Given the description of an element on the screen output the (x, y) to click on. 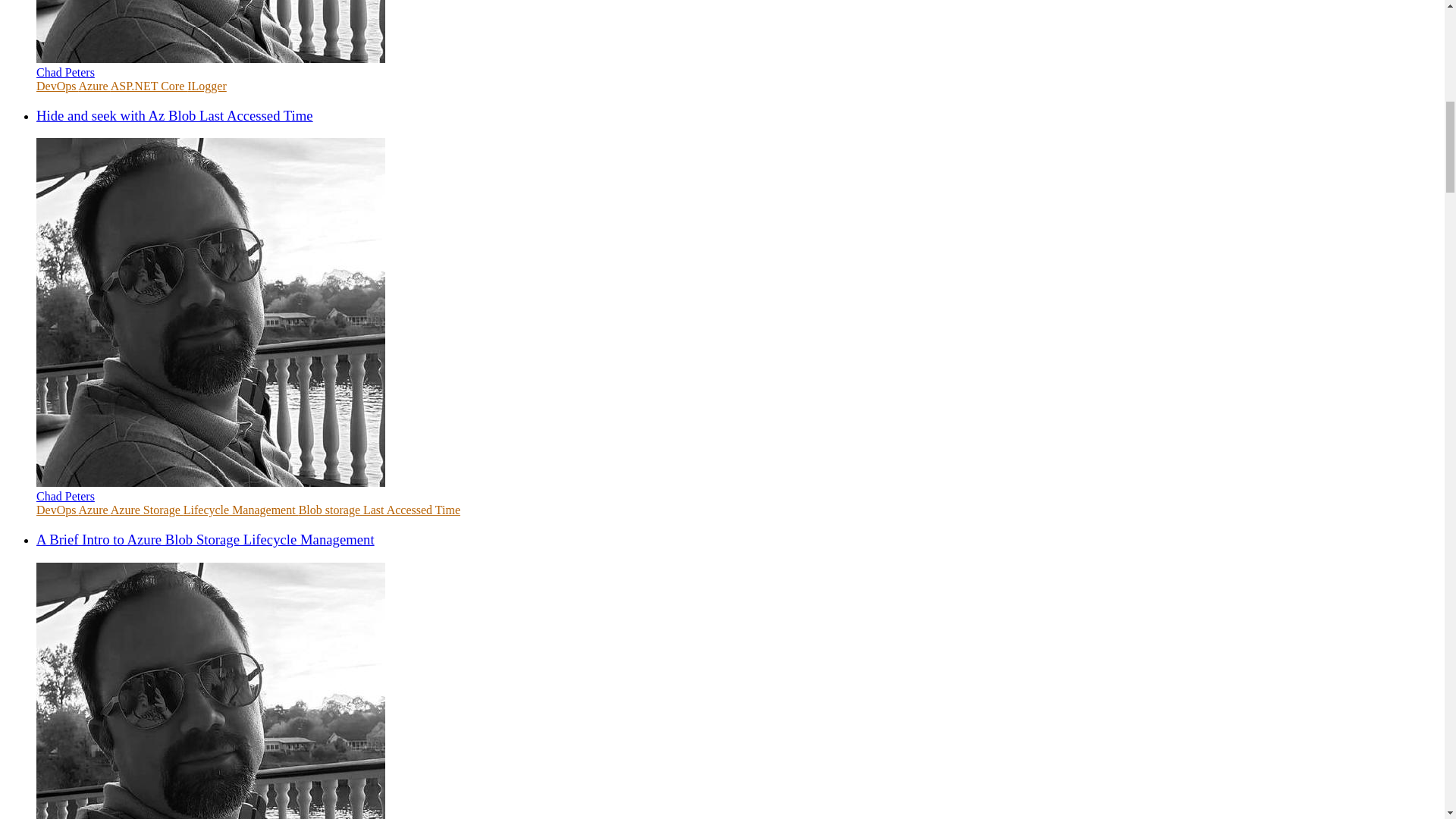
Azure Storage (146, 509)
A Brief Intro to Azure Blob Storage Lifecycle Management (205, 539)
Hide and seek with Az Blob Last Accessed Time (174, 115)
Azure (94, 85)
ASP.NET Core (148, 85)
Hide and seek with Az Blob Last Accessed Time (174, 115)
DevOps (57, 509)
Azure (94, 509)
DevOps (57, 85)
Chad Peters (65, 495)
Chad Peters (65, 72)
Lifecycle Management (240, 509)
Last Accessed Time (411, 509)
A Brief Intro to Azure Blob Storage Lifecycle Management (205, 539)
Blob storage (330, 509)
